Given the description of an element on the screen output the (x, y) to click on. 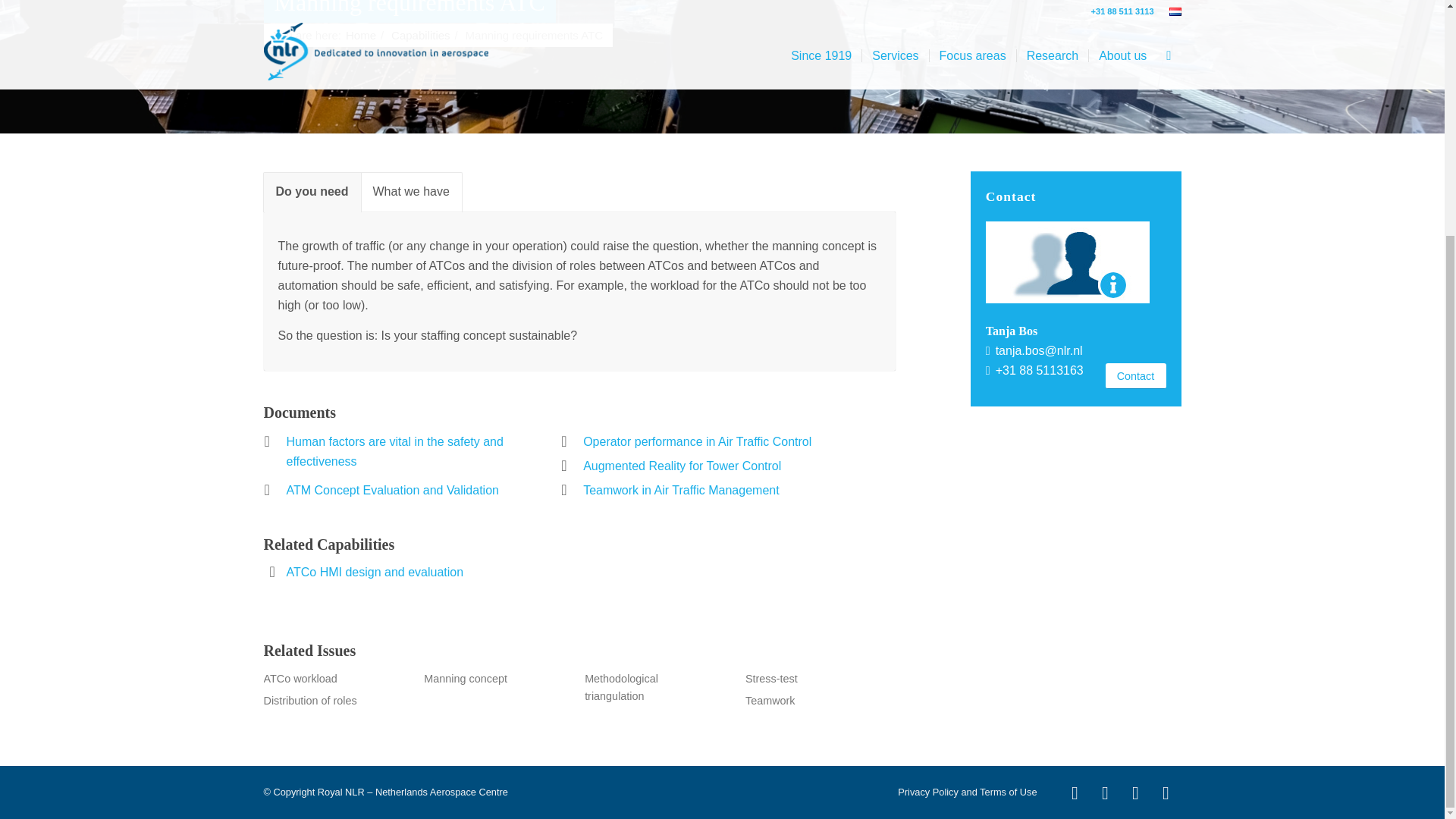
Youtube (1074, 793)
Twitter (1136, 793)
LinkedIn (1105, 793)
Permanent Link: Manning requirements ATC (409, 11)
Facebook (1165, 793)
